Given the description of an element on the screen output the (x, y) to click on. 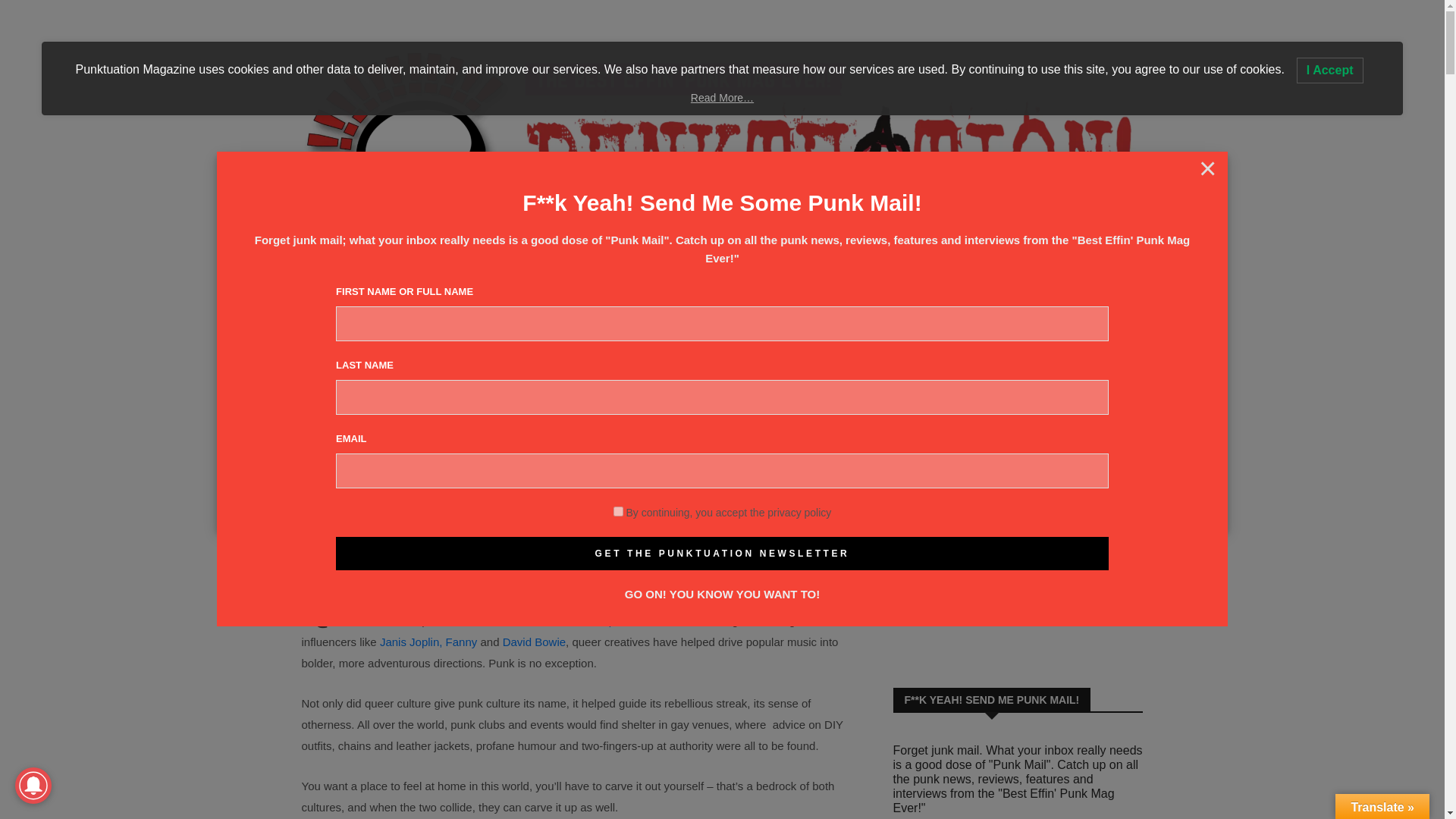
Little Richard (679, 620)
FEATURES (644, 354)
Sister Rosetta Tharpe (566, 620)
INTERVIEWS (559, 354)
PUNKTUATION! INFO (824, 354)
Home (315, 410)
NEW RELEASES (460, 354)
Fanny (461, 641)
HOME (325, 354)
NEWS (380, 354)
Punk Features (384, 410)
Janis Joplin, (411, 641)
REVIEWS (720, 354)
Welton B Marsland (355, 557)
